Given the description of an element on the screen output the (x, y) to click on. 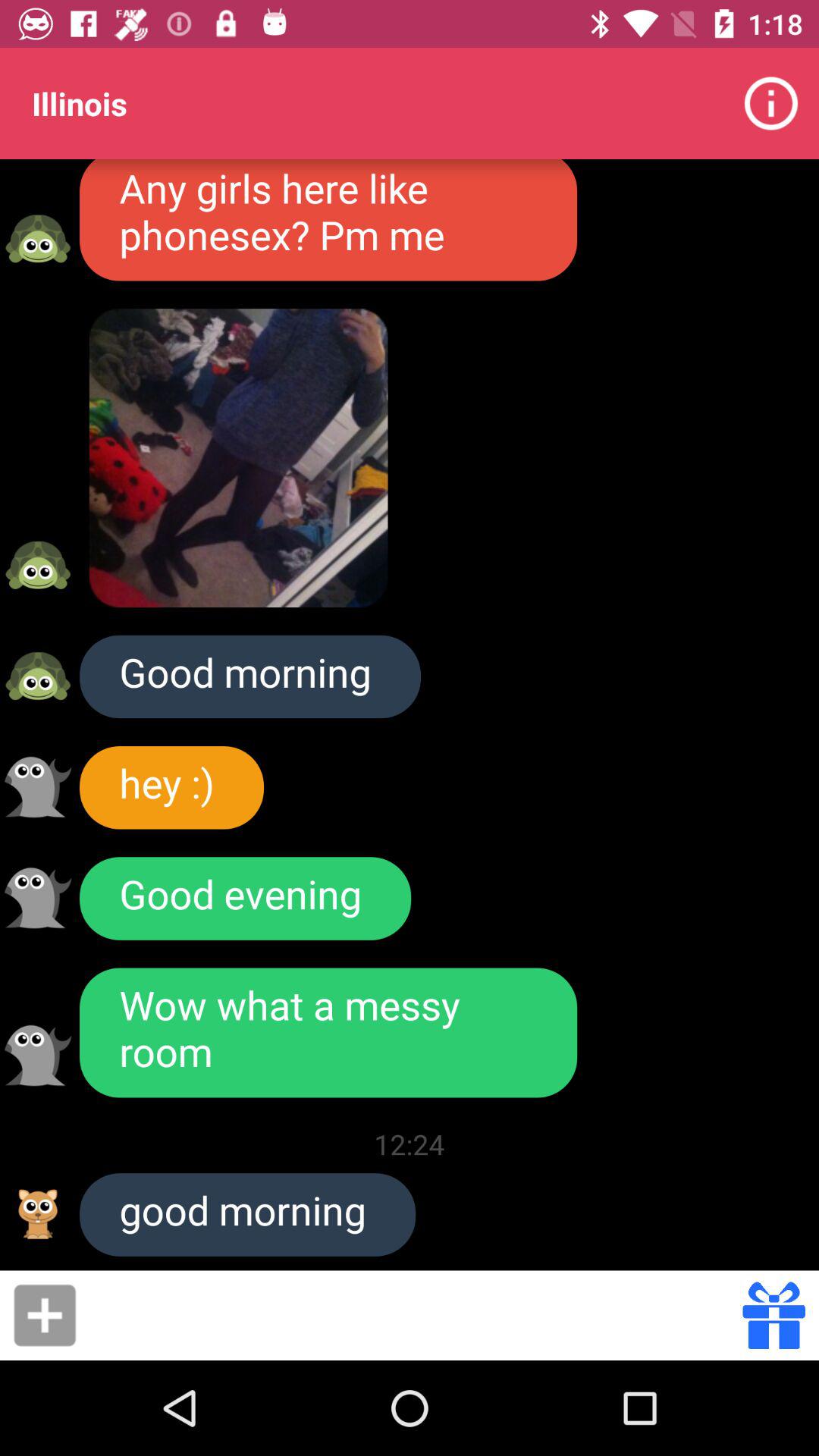
tap 12:24 (409, 1144)
